Given the description of an element on the screen output the (x, y) to click on. 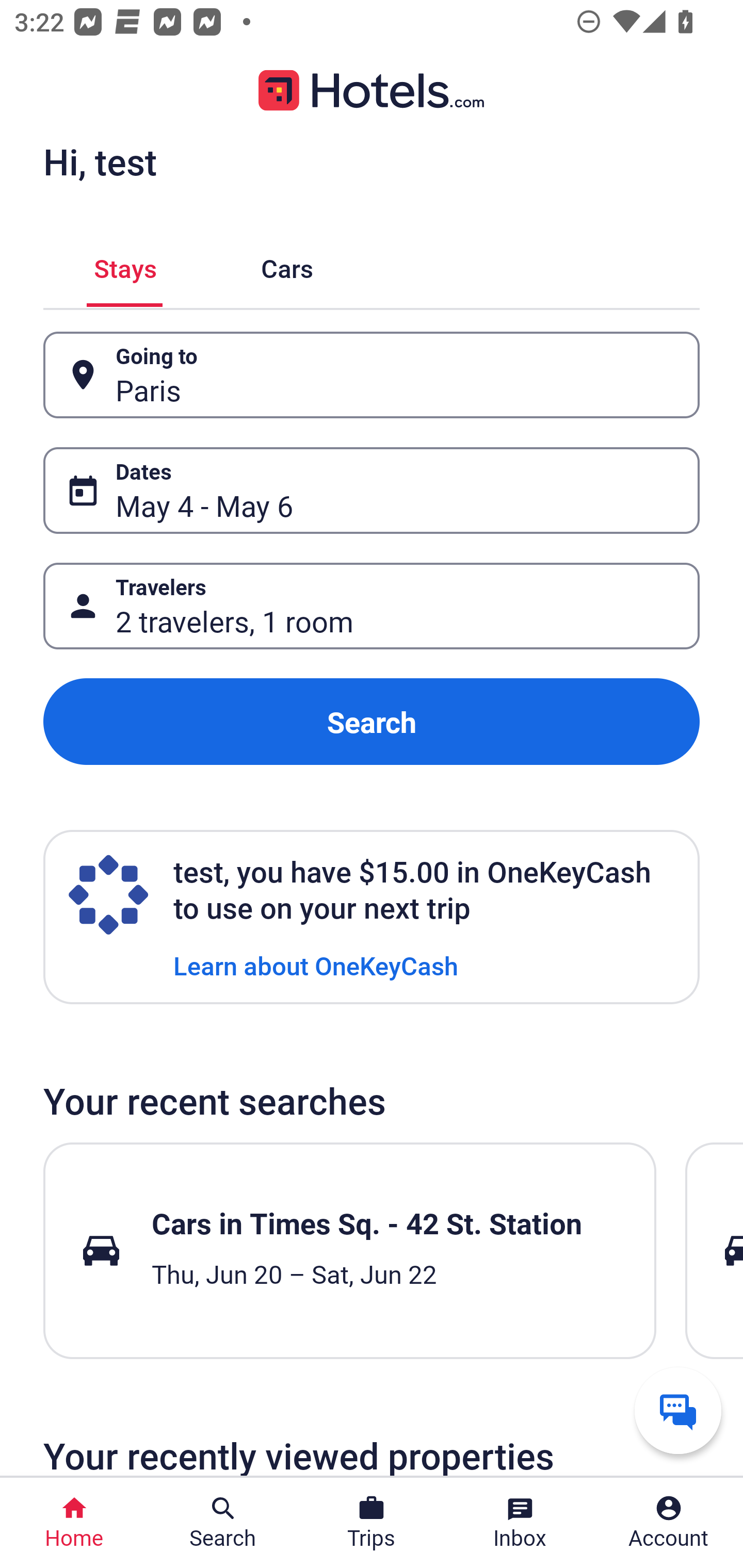
Hi, test (99, 161)
Cars (286, 265)
Going to Button Paris (371, 375)
Dates Button May 4 - May 6 (371, 489)
Travelers Button 2 travelers, 1 room (371, 605)
Search (371, 721)
Learn about OneKeyCash Learn about OneKeyCash Link (315, 964)
Get help from a virtual agent (677, 1410)
Search Search Button (222, 1522)
Trips Trips Button (371, 1522)
Inbox Inbox Button (519, 1522)
Account Profile. Button (668, 1522)
